Given the description of an element on the screen output the (x, y) to click on. 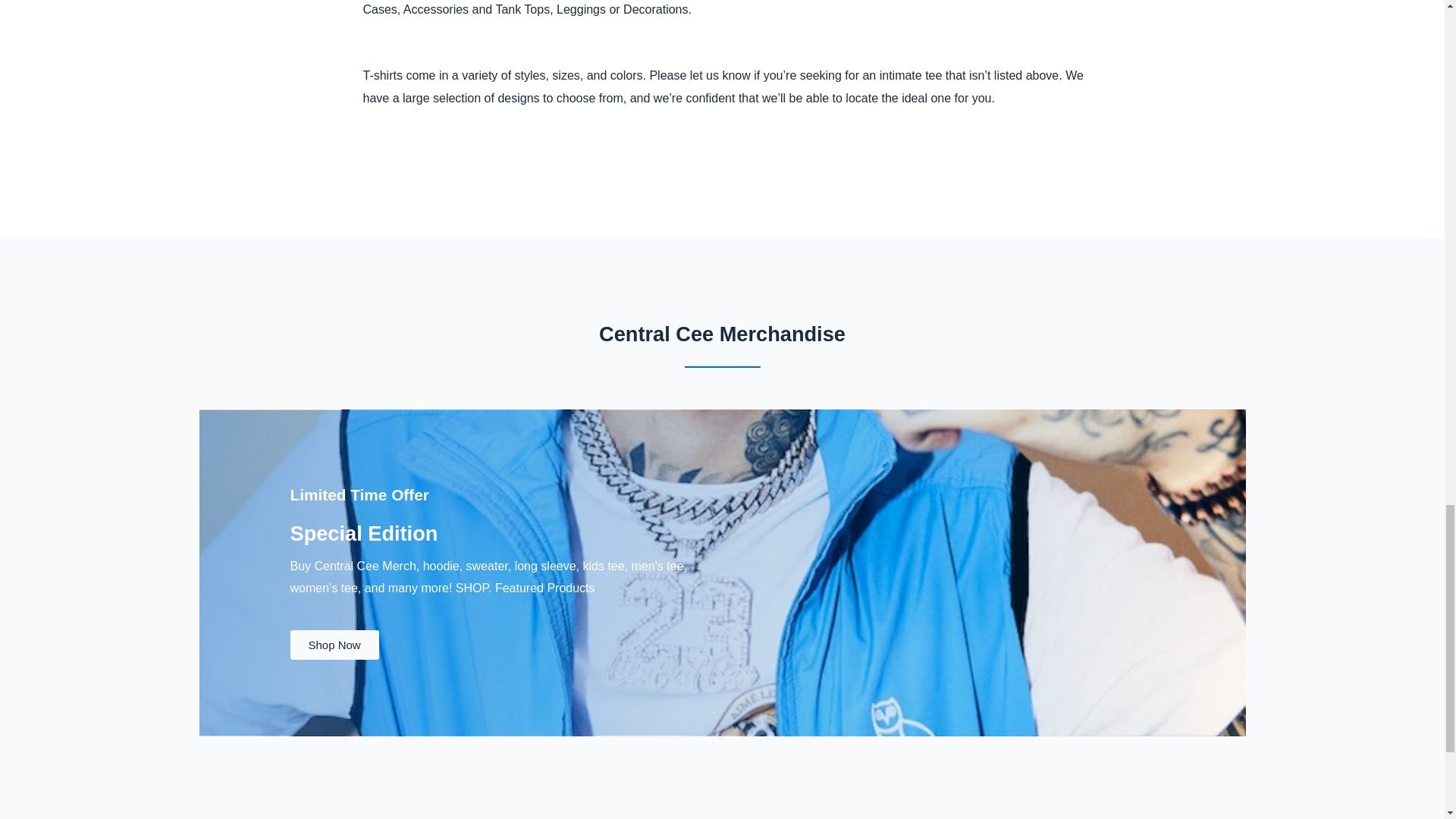
Shop Now (333, 644)
